Given the description of an element on the screen output the (x, y) to click on. 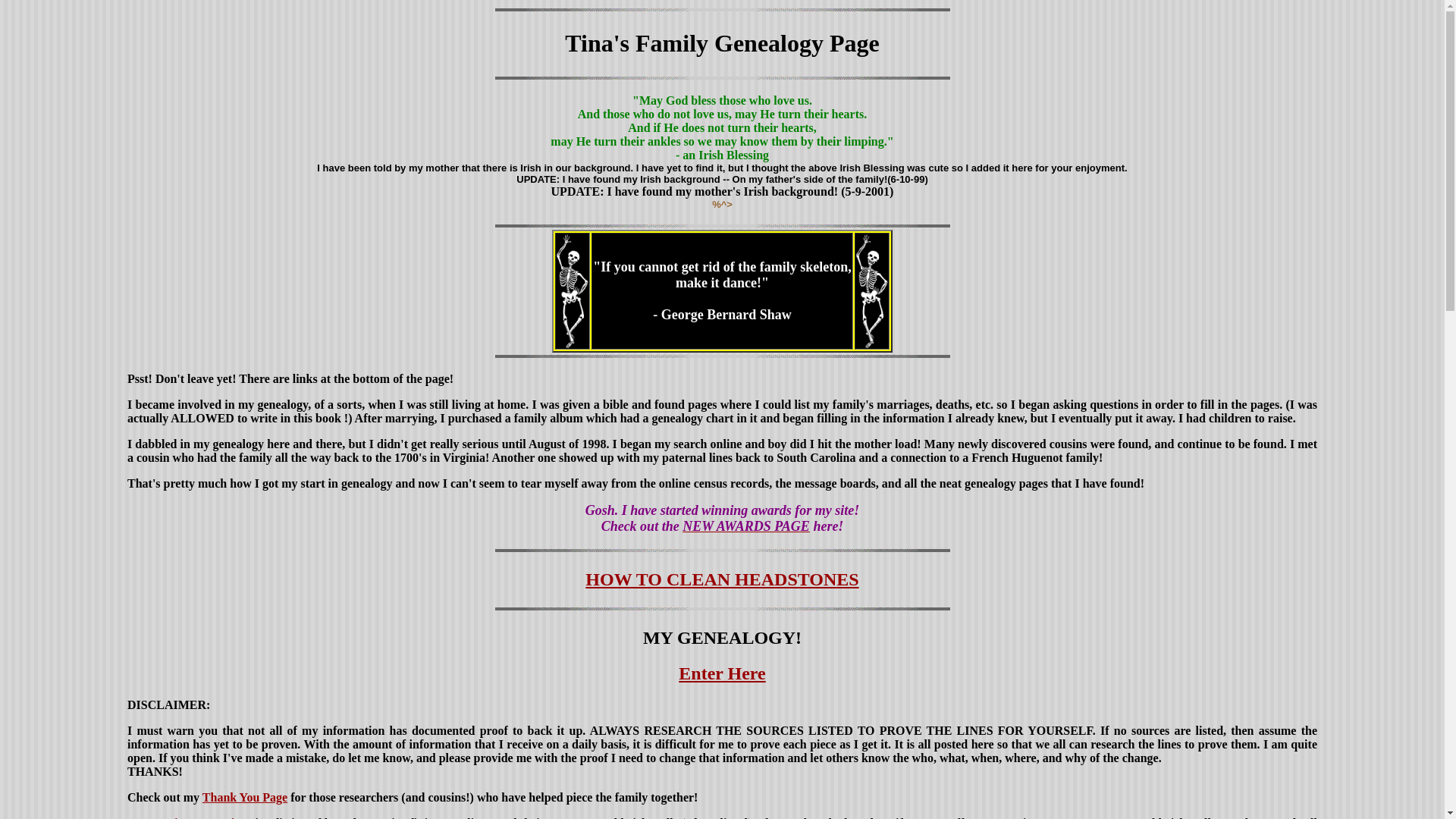
My Cousin Connections (189, 817)
Thank You Page (244, 797)
HOW TO CLEAN HEADSTONES (722, 578)
NEW AWARDS PAGE (745, 525)
Enter Here (721, 672)
